Given the description of an element on the screen output the (x, y) to click on. 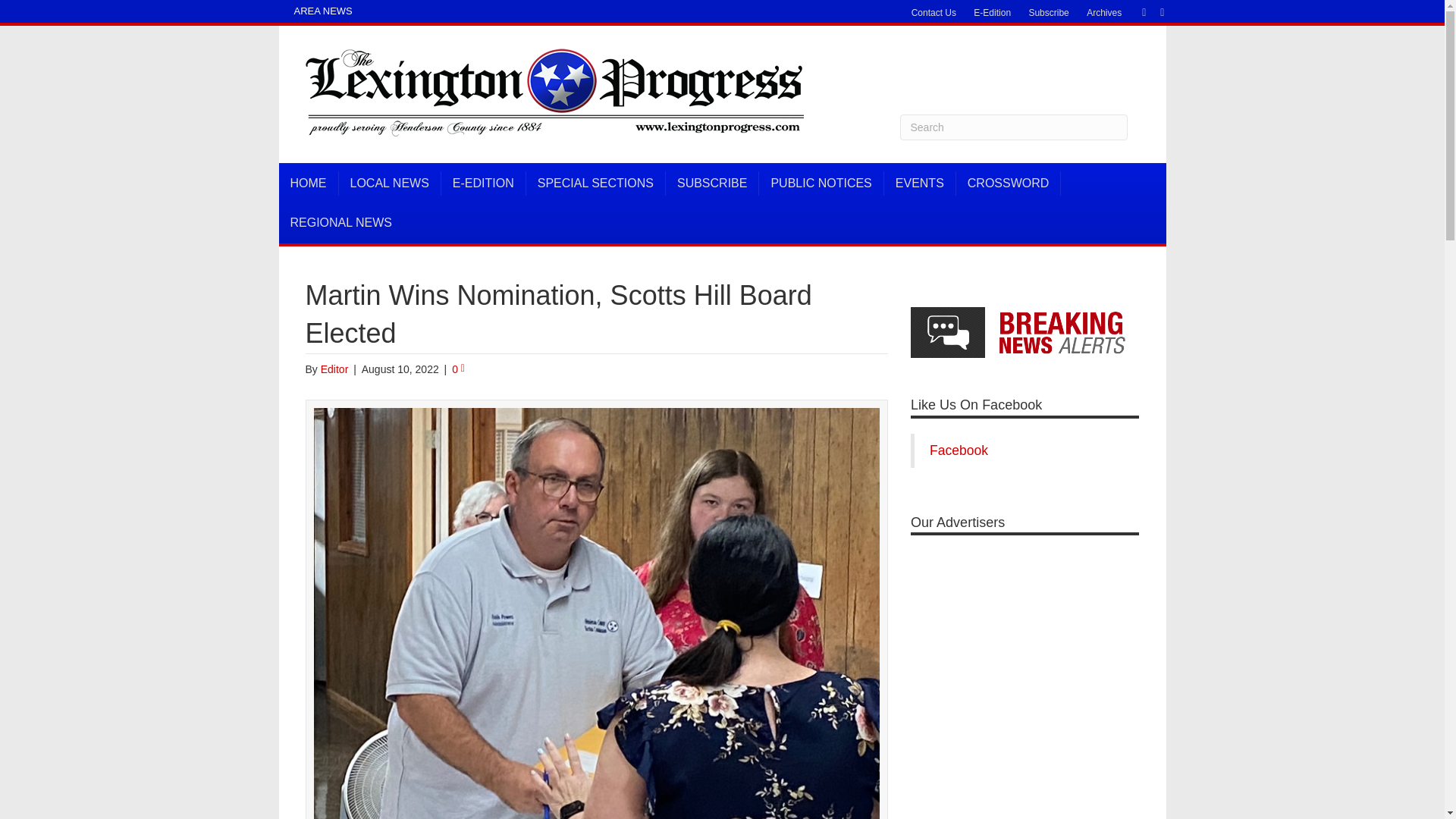
Subscribe (1047, 13)
HOME (309, 183)
E-EDITION (483, 183)
Type and press Enter to search. (1012, 127)
CROSSWORD (1008, 183)
Facebook (1135, 11)
E-Edition (991, 13)
Email (1154, 11)
Archives (1103, 13)
Contact Us (933, 13)
EVENTS (919, 183)
REGIONAL NEWS (341, 222)
PUBLIC NOTICES (820, 183)
LOCAL NEWS (389, 183)
0 (457, 369)
